Given the description of an element on the screen output the (x, y) to click on. 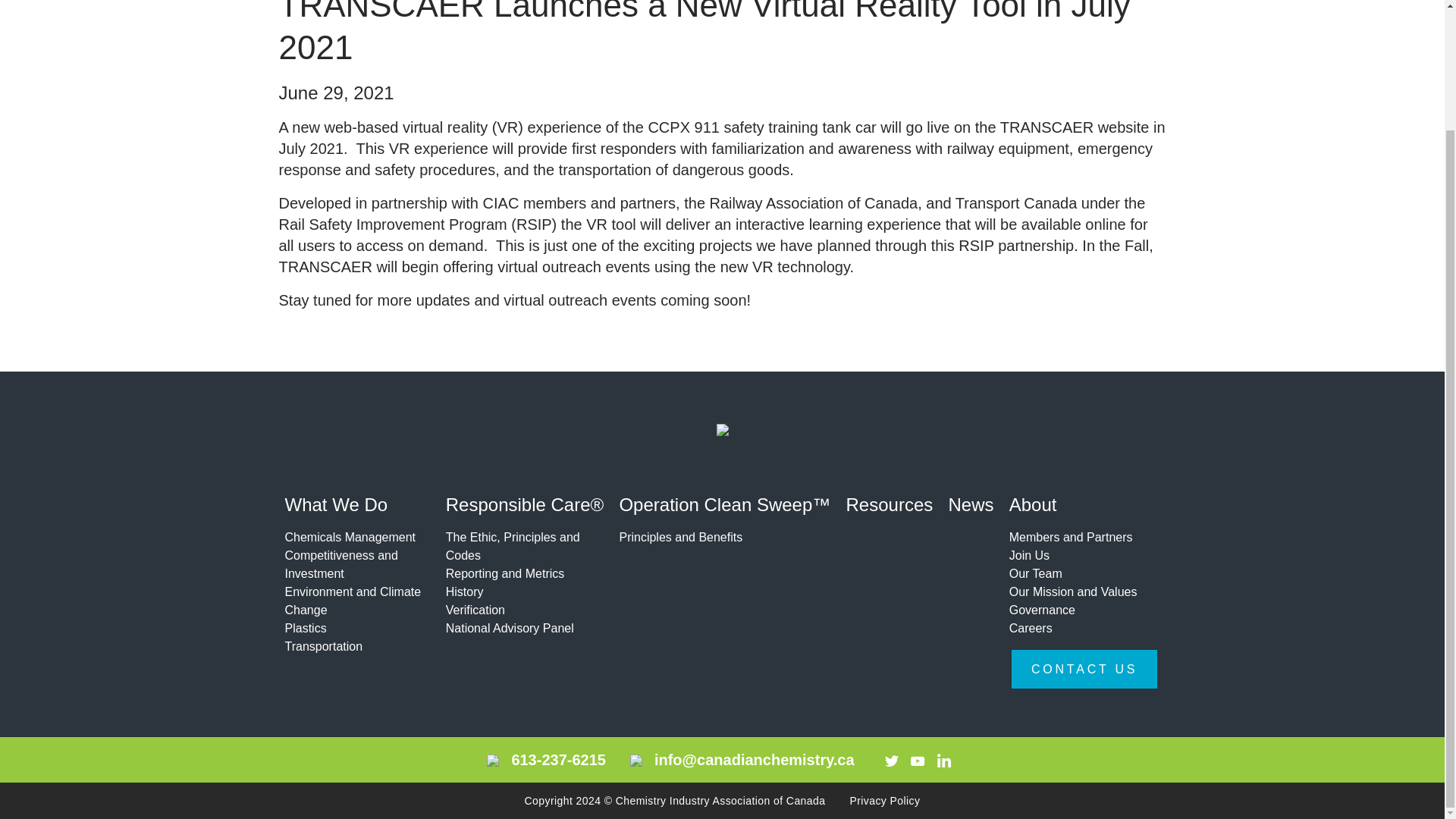
Transportation (354, 647)
Plastics (354, 628)
Chemicals Management (354, 537)
Environment and Climate Change (354, 601)
Competitiveness and Investment (354, 565)
What We Do (354, 507)
